Given the description of an element on the screen output the (x, y) to click on. 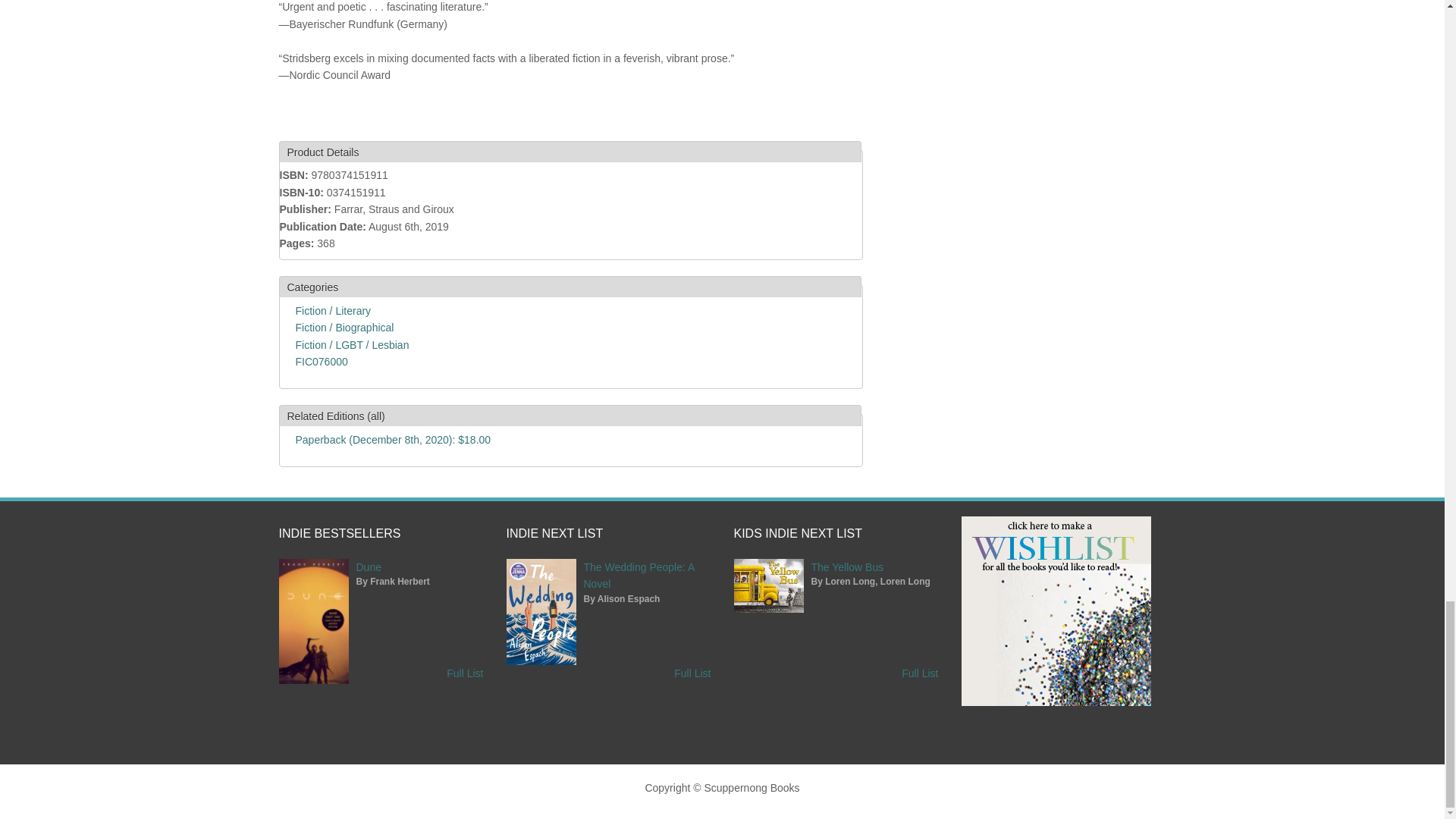
The Wedding People: A Novel - by Alison Espach (638, 575)
Dune - by Frank Herbert (314, 680)
The Wedding People: A Novel - by Alison Espach (541, 661)
The Yellow Bus - by Loren Long, Loren Long (846, 567)
Dune - by Frank Herbert (368, 567)
The Yellow Bus - by Loren Long, Loren Long (768, 608)
